Given the description of an element on the screen output the (x, y) to click on. 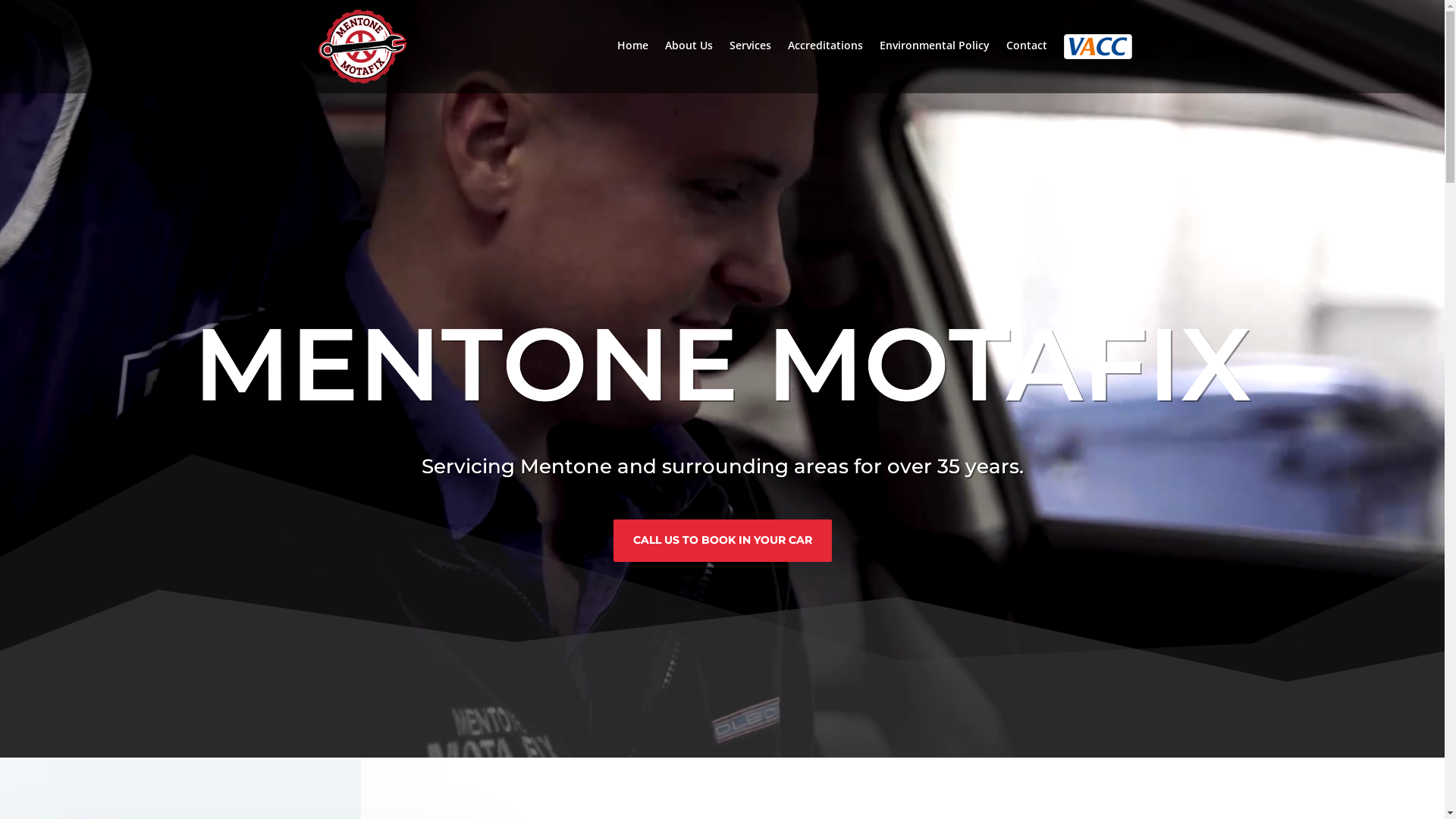
Accreditations Element type: text (824, 62)
About Us Element type: text (688, 62)
Environmental Policy Element type: text (934, 62)
Services Element type: text (750, 62)
Home Element type: text (632, 62)
Contact Element type: text (1025, 62)
CALL US TO BOOK IN YOUR CAR Element type: text (721, 540)
